Given the description of an element on the screen output the (x, y) to click on. 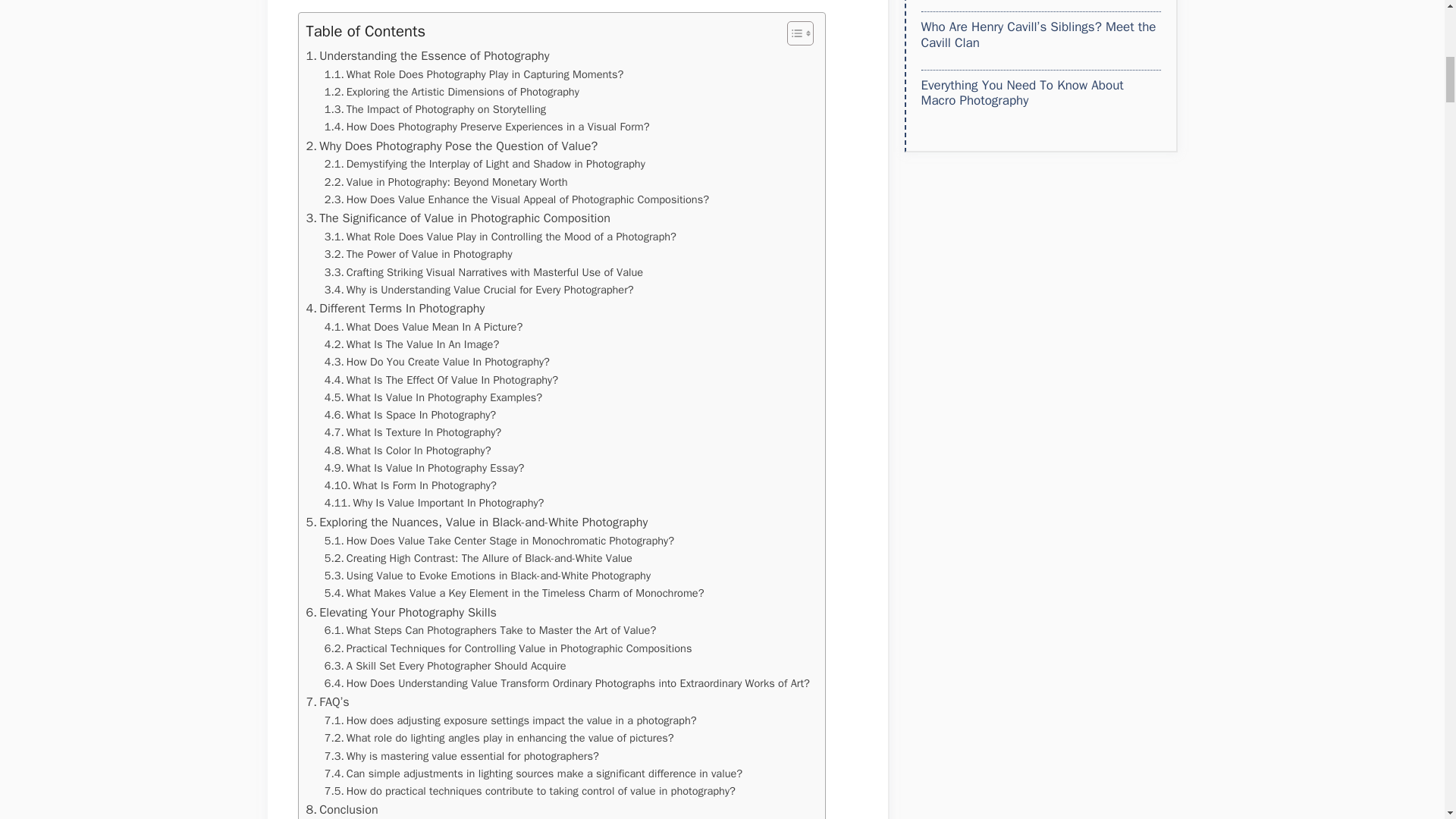
What Is Space In Photography? (410, 415)
What Role Does Photography Play in Capturing Moments? (474, 74)
What Is Texture In Photography? (412, 432)
Exploring the Artistic Dimensions of Photography (451, 91)
The Significance of Value in Photographic Composition (457, 218)
The Impact of Photography on Storytelling (435, 108)
Value in Photography: Beyond Monetary Worth (445, 181)
What Is Value In Photography Examples? (432, 397)
